Given the description of an element on the screen output the (x, y) to click on. 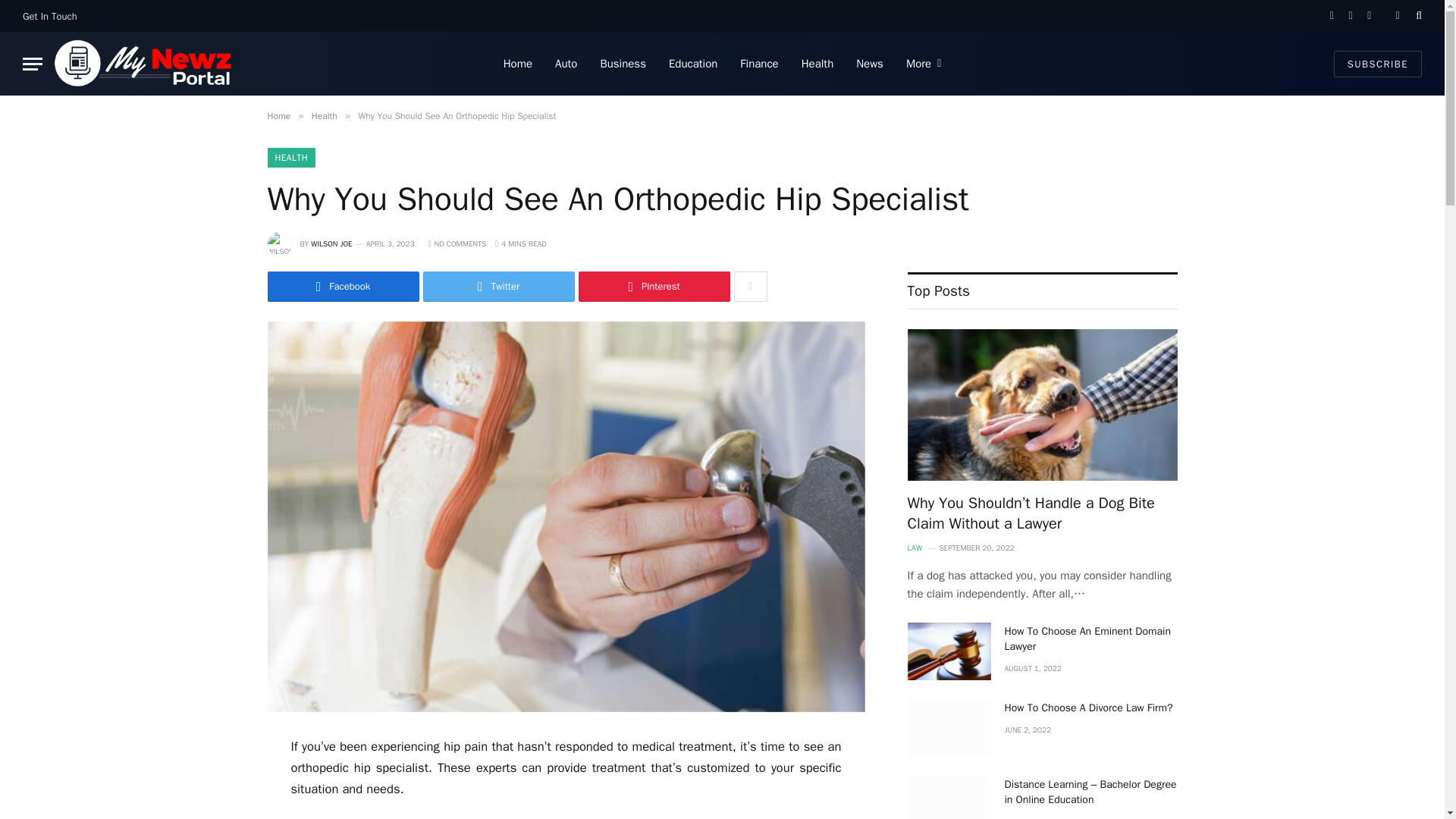
Share on Twitter (342, 286)
Switch to Dark Design - easier on eyes. (1397, 15)
Business (623, 63)
Share on Twitter (499, 286)
Home (277, 115)
Get In Touch (50, 15)
SUBSCRIBE (1377, 62)
Finance (759, 63)
Posts by Wilson Joe (331, 243)
Share on Pinterest (653, 286)
